Given the description of an element on the screen output the (x, y) to click on. 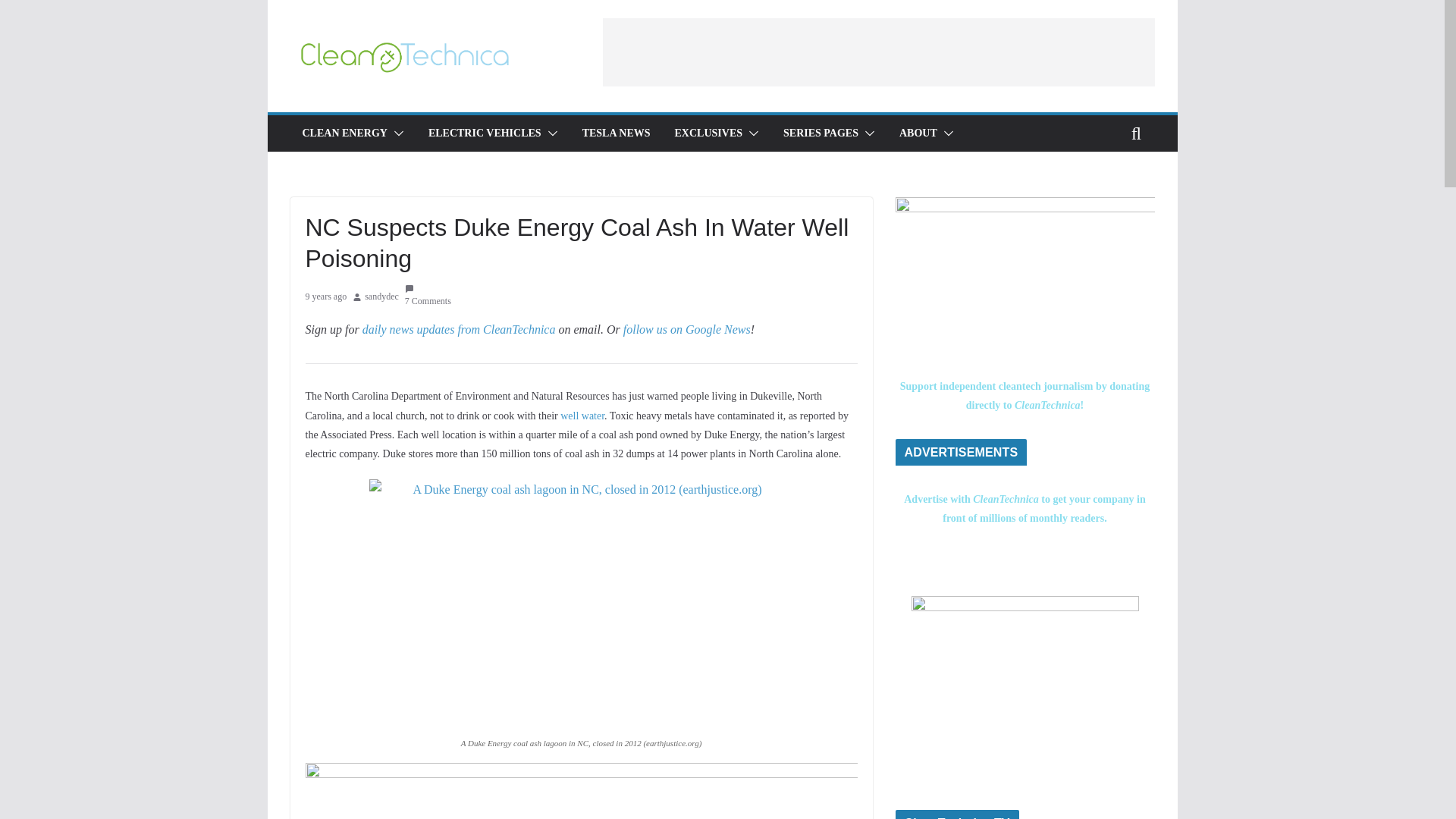
CLEAN ENERGY (344, 133)
sandydec (381, 297)
TESLA NEWS (616, 133)
EXCLUSIVES (708, 133)
ELECTRIC VEHICLES (484, 133)
SERIES PAGES (821, 133)
